Given the description of an element on the screen output the (x, y) to click on. 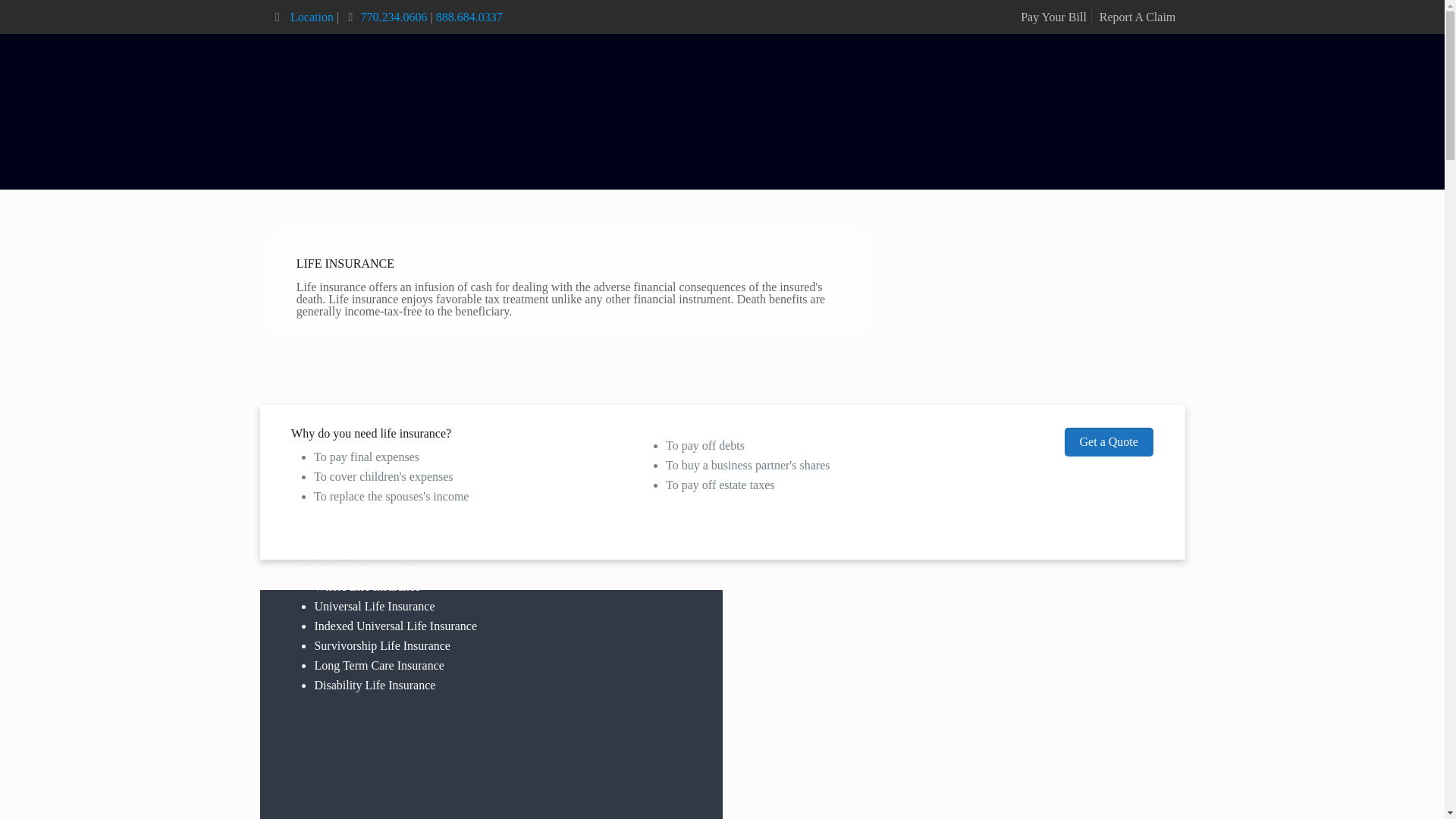
Report A Claim (1136, 16)
Location (309, 16)
888.684.0337 (468, 16)
Pay Your Bill (1053, 16)
770.234.0606 (394, 16)
